Given the description of an element on the screen output the (x, y) to click on. 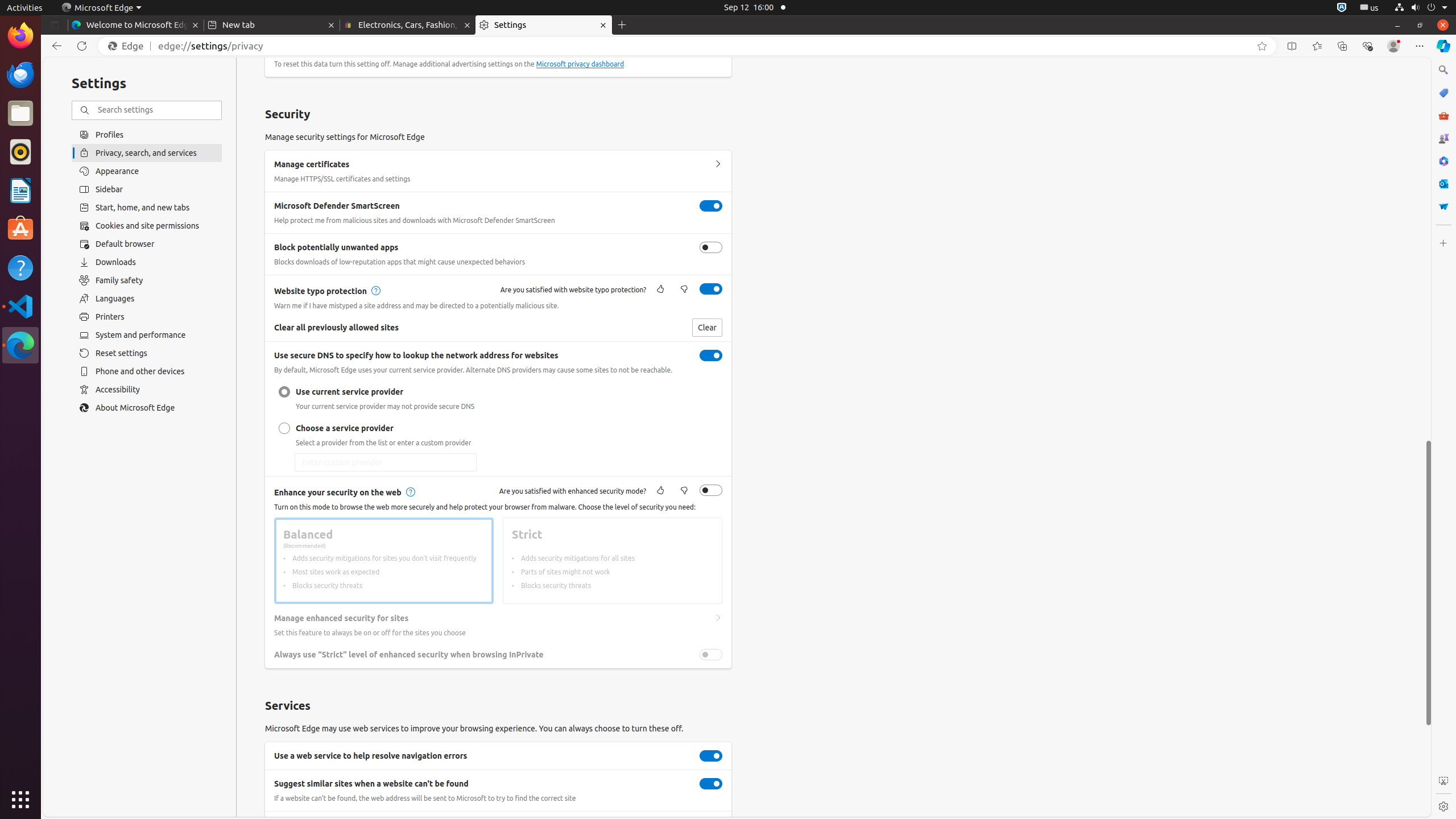
Settings Element type: push-button (1443, 806)
Website typo protection Element type: check-box (710, 288)
